Given the description of an element on the screen output the (x, y) to click on. 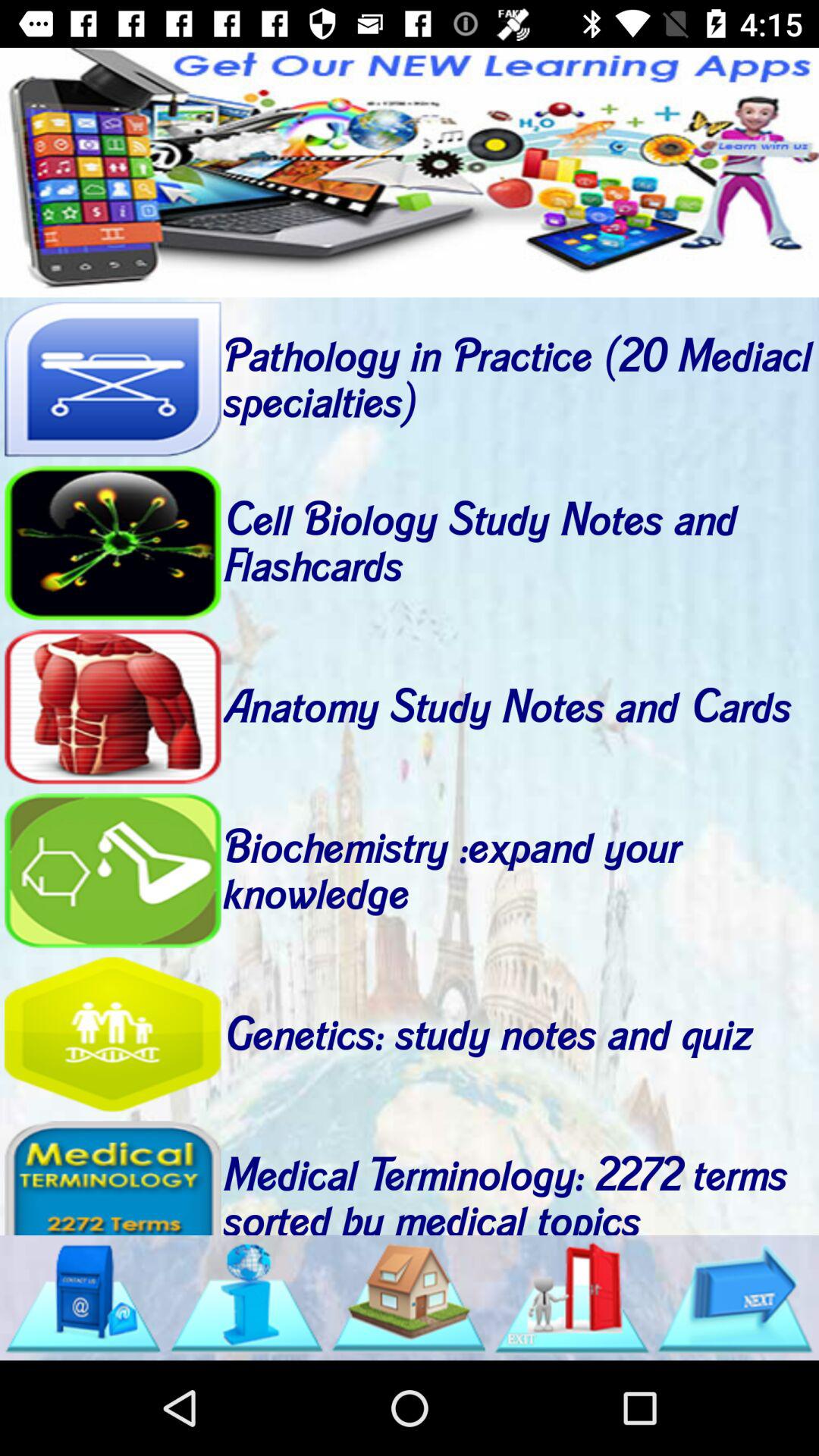
click on the mini image left to anatomy study notes and  cards (112, 706)
